Given the description of an element on the screen output the (x, y) to click on. 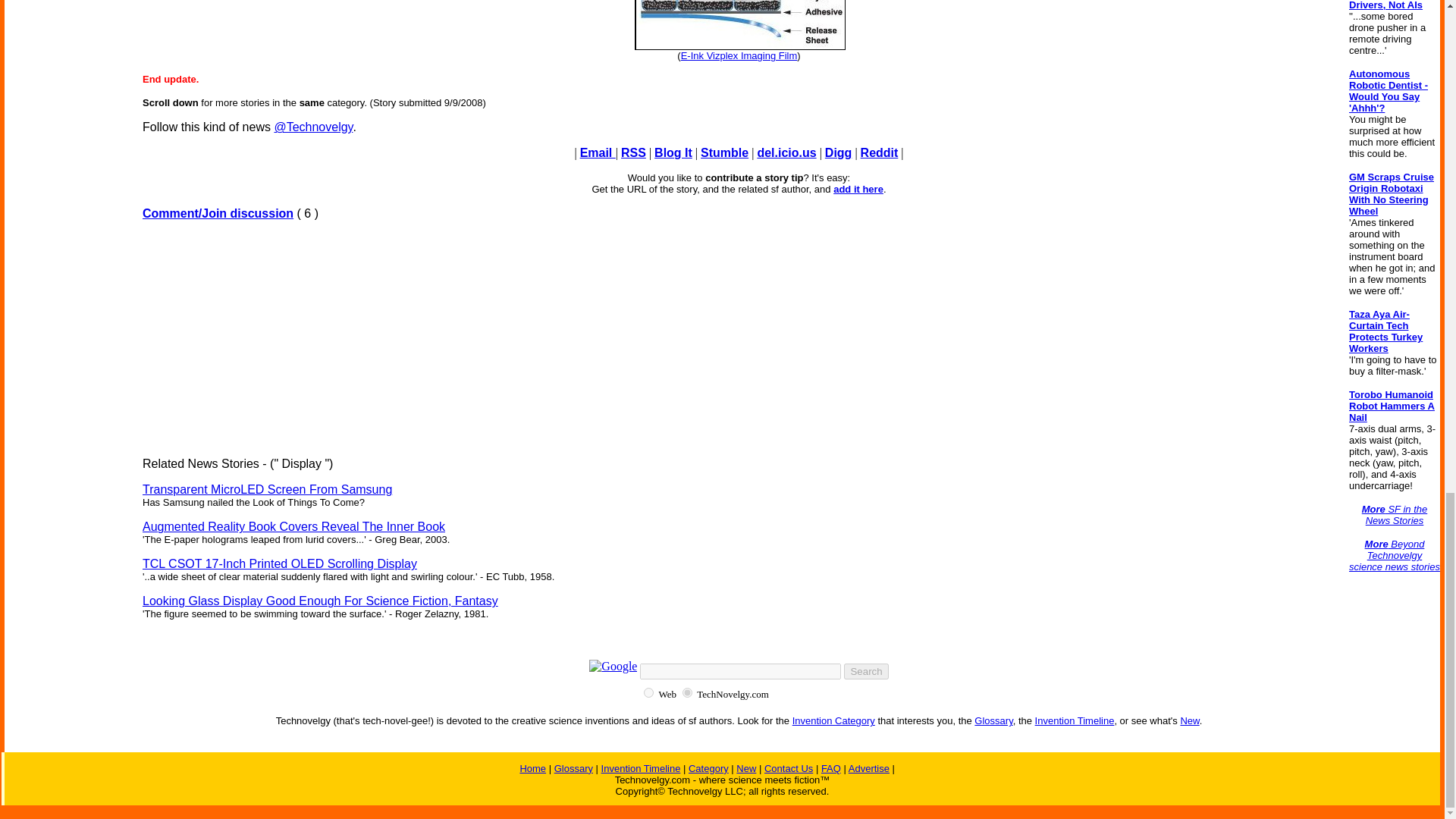
Search (866, 671)
Advertisement (738, 338)
E-Ink Vizplex Imaging Film (739, 55)
Email (597, 152)
Blog It (673, 152)
TechNovelgy.com (687, 692)
RSS (633, 152)
